Given the description of an element on the screen output the (x, y) to click on. 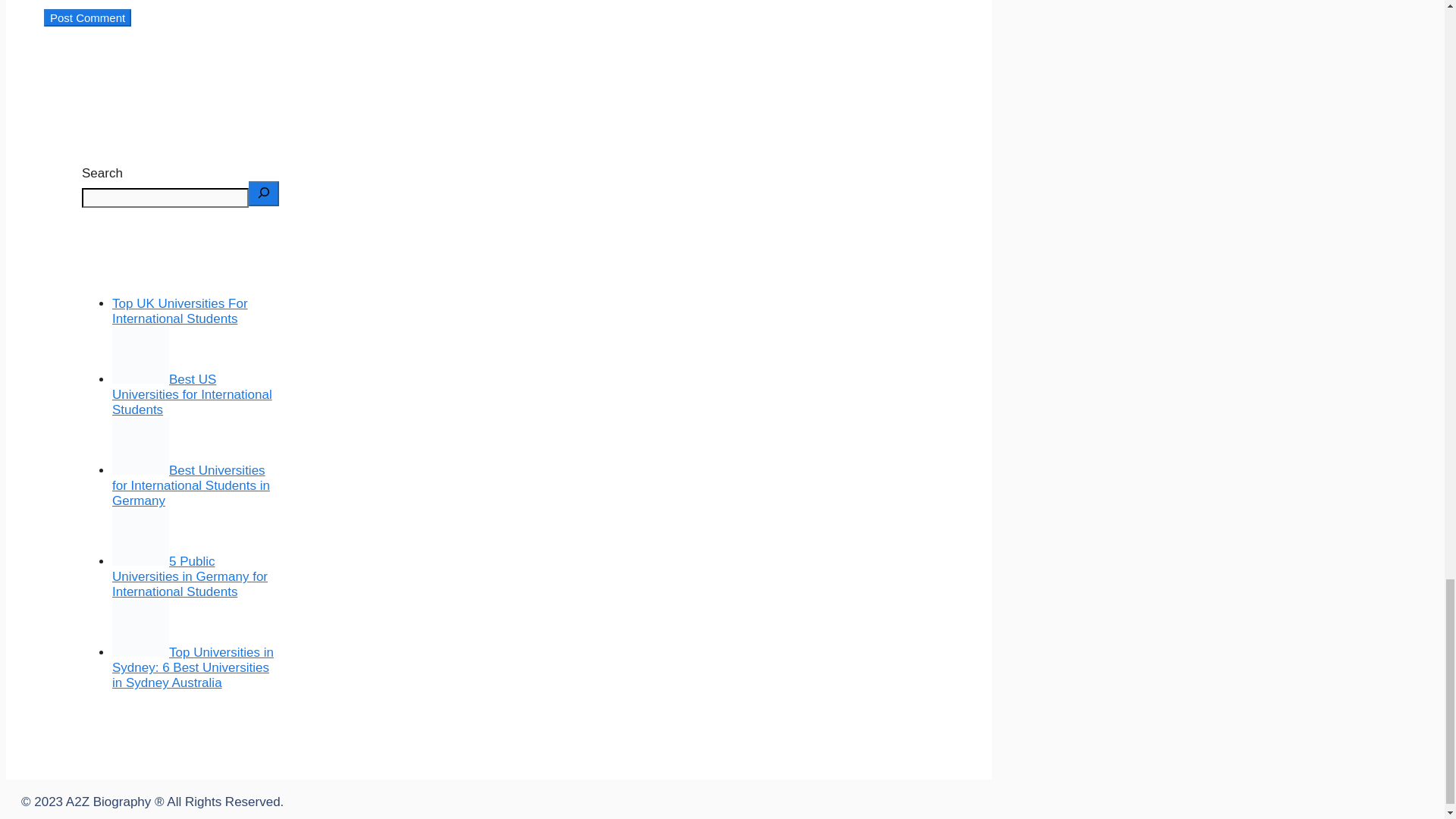
5 Public Universities in Germany for International Students (189, 576)
Best Universities for International Students in Germany (190, 485)
Best US Universities for International Students (192, 394)
Post Comment (87, 17)
Post Comment (87, 17)
Top UK Universities For International Students (179, 310)
